Given the description of an element on the screen output the (x, y) to click on. 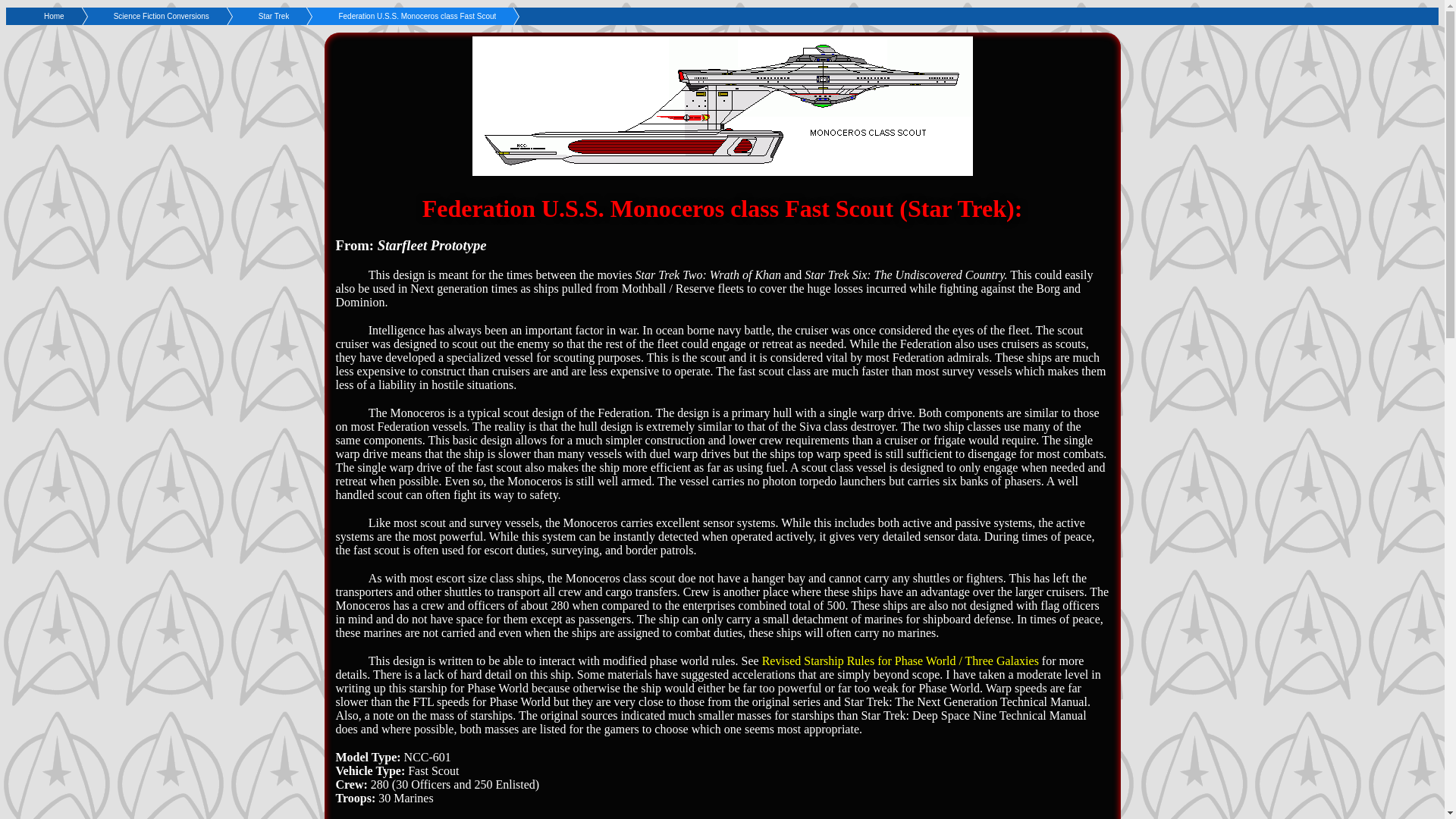
Federation U.S.S. Monoceros class Fast Scout (392, 16)
Home (50, 16)
Science Fiction Conversions (136, 16)
Star Trek (249, 16)
